Given the description of an element on the screen output the (x, y) to click on. 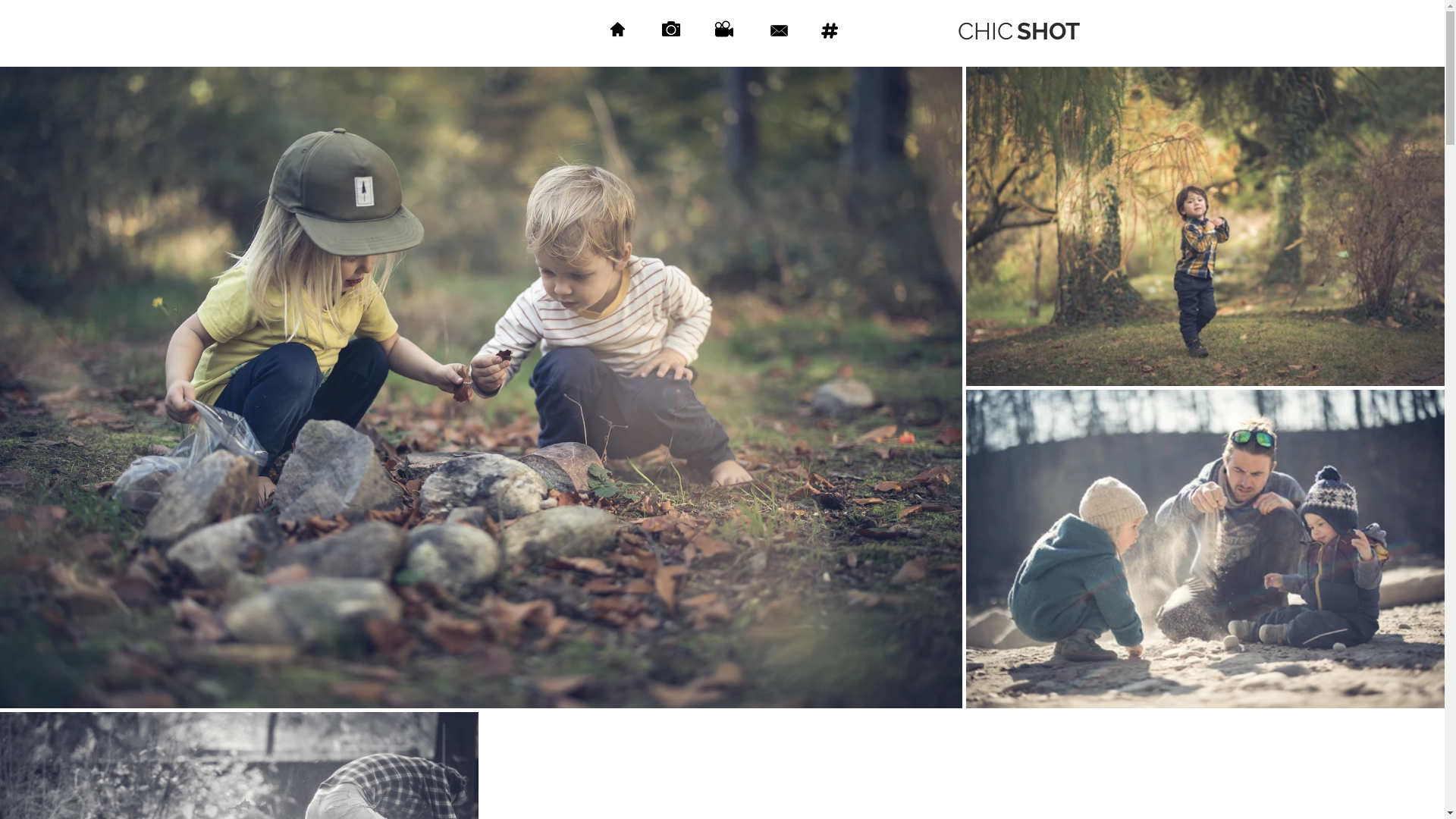
CHIC SHOT Element type: text (1018, 30)
